Given the description of an element on the screen output the (x, y) to click on. 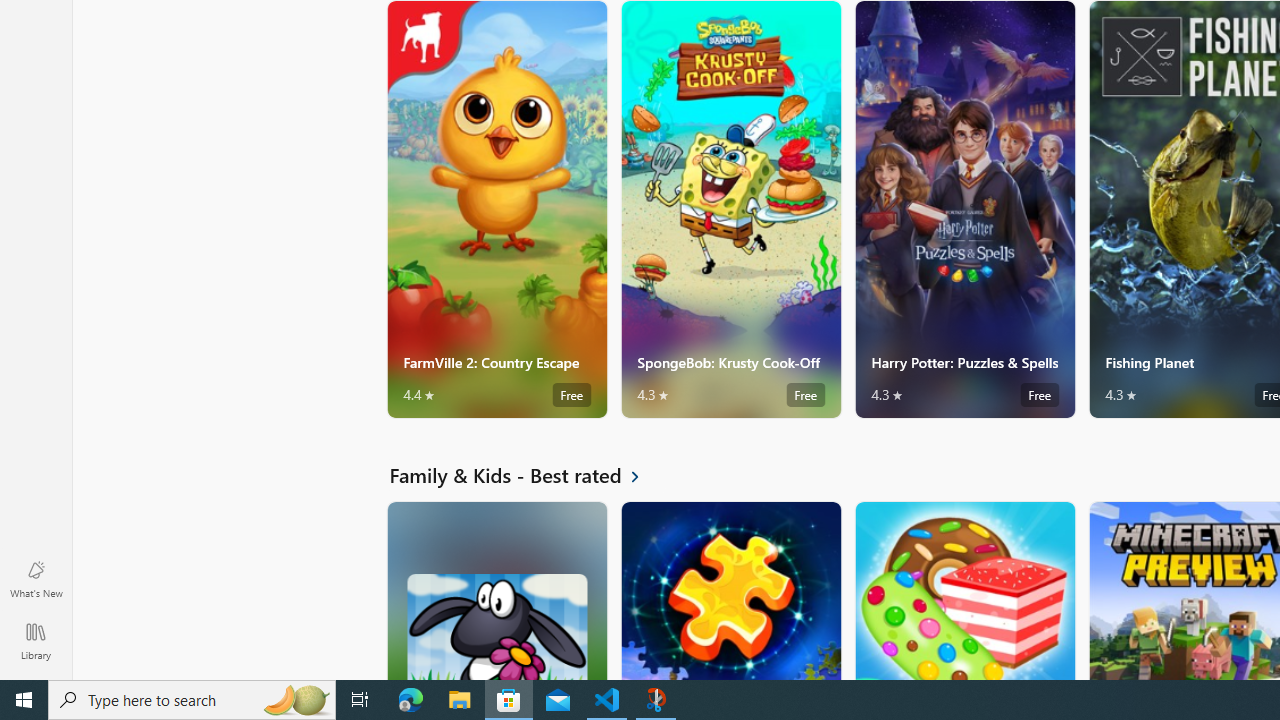
See all  Family & Kids - Best rated (526, 475)
Library (35, 640)
What's New (35, 578)
